Given the description of an element on the screen output the (x, y) to click on. 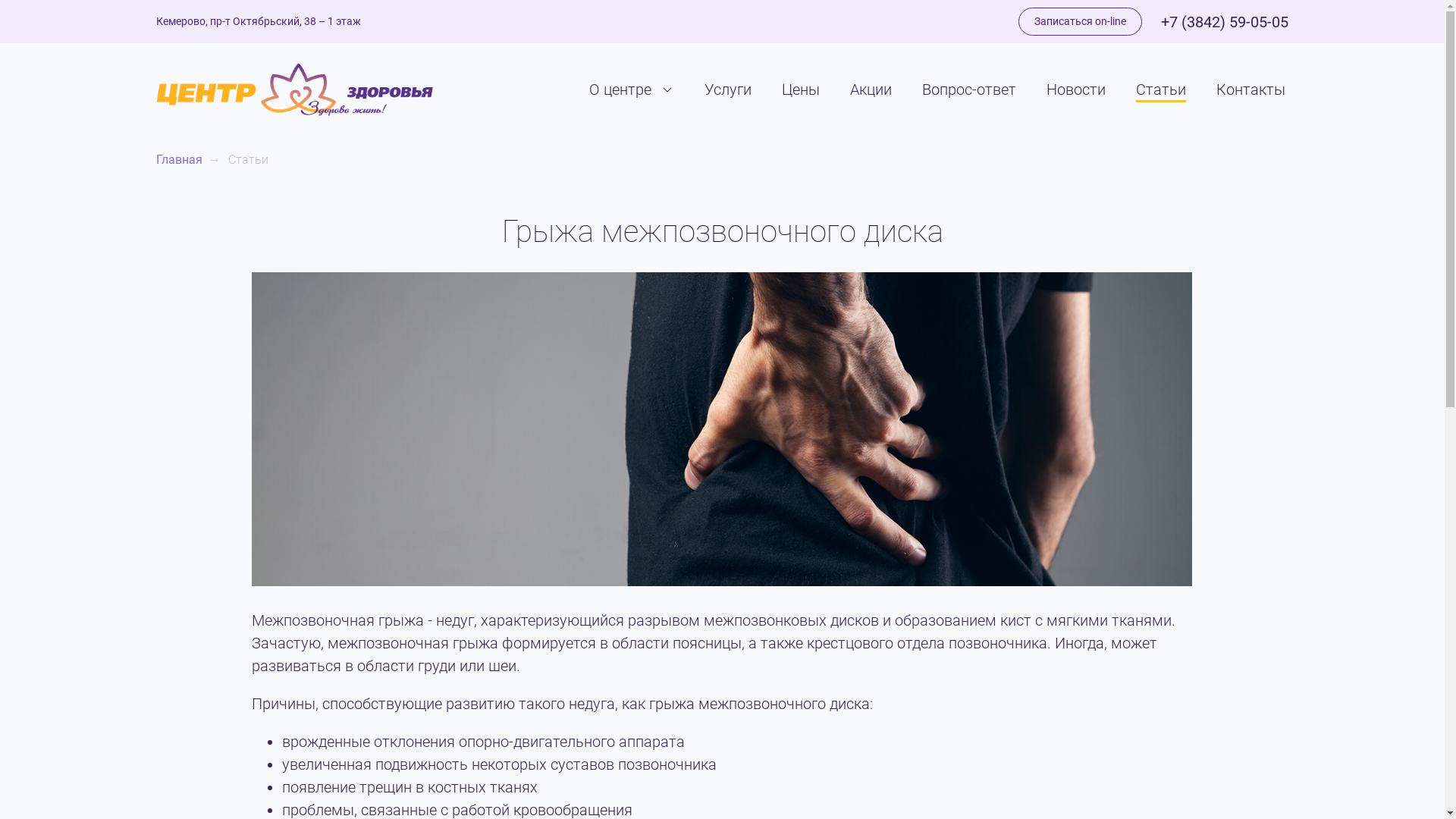
+7 (3842) 59-05-05 Element type: text (1224, 21)
